Given the description of an element on the screen output the (x, y) to click on. 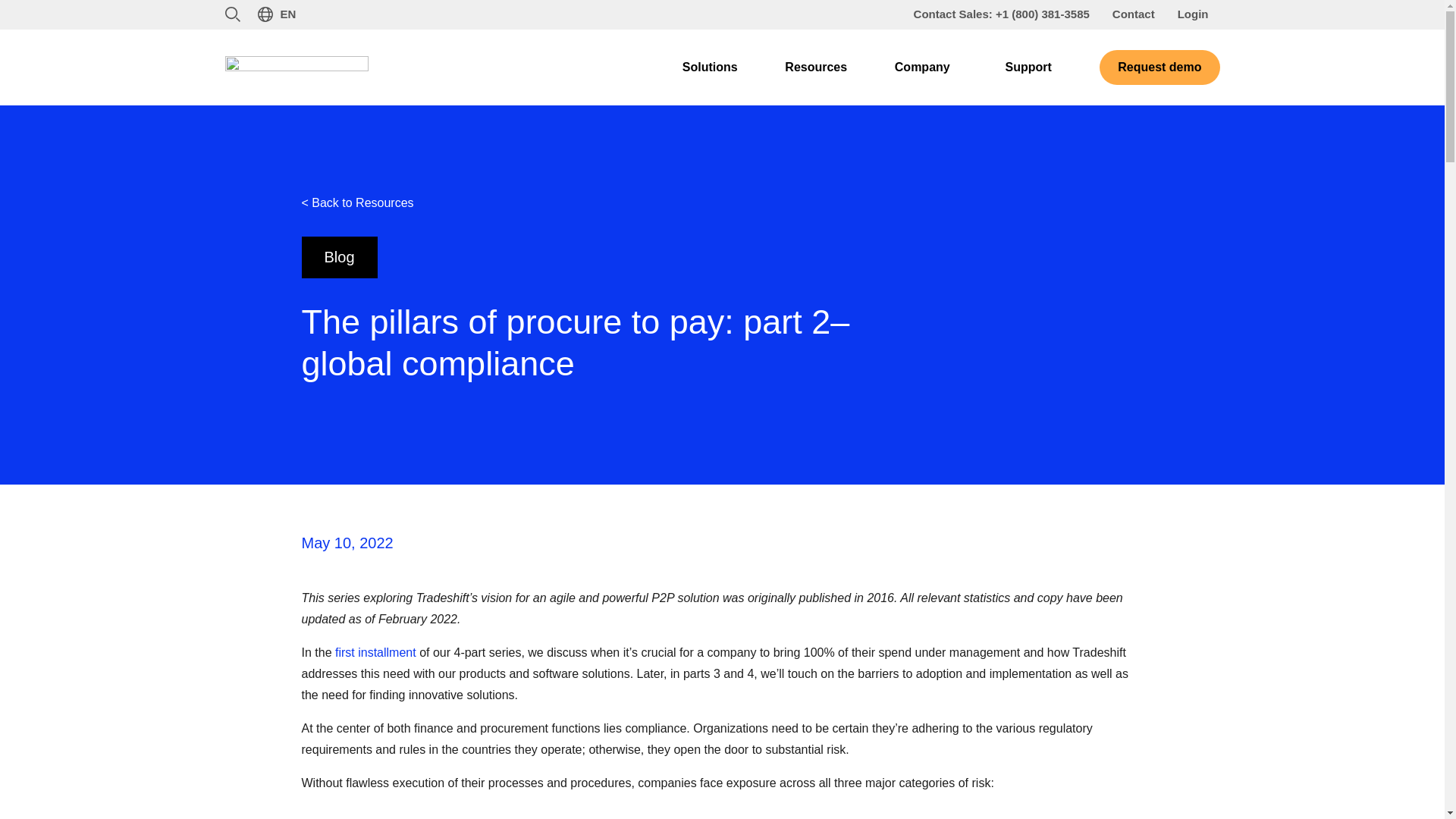
Search (233, 14)
Solutions (709, 67)
Contact (1133, 14)
Login (1193, 14)
EN (276, 14)
